Given the description of an element on the screen output the (x, y) to click on. 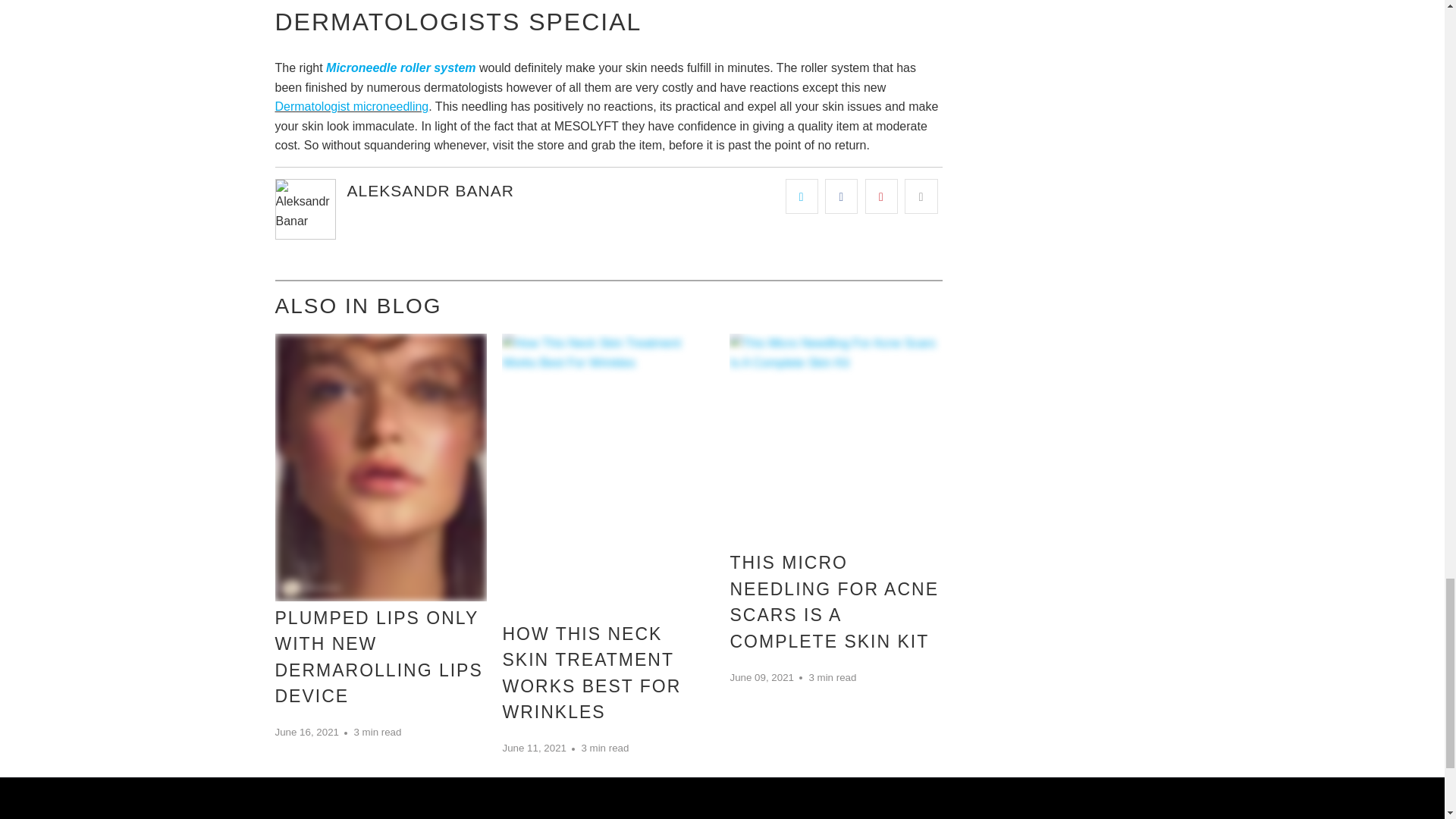
Microneedle roller system (401, 67)
Dermatologist microneedling (351, 106)
Dermatologist microneedling (351, 106)
Microneedle roller system (401, 67)
Share this on Twitter (802, 196)
